Given the description of an element on the screen output the (x, y) to click on. 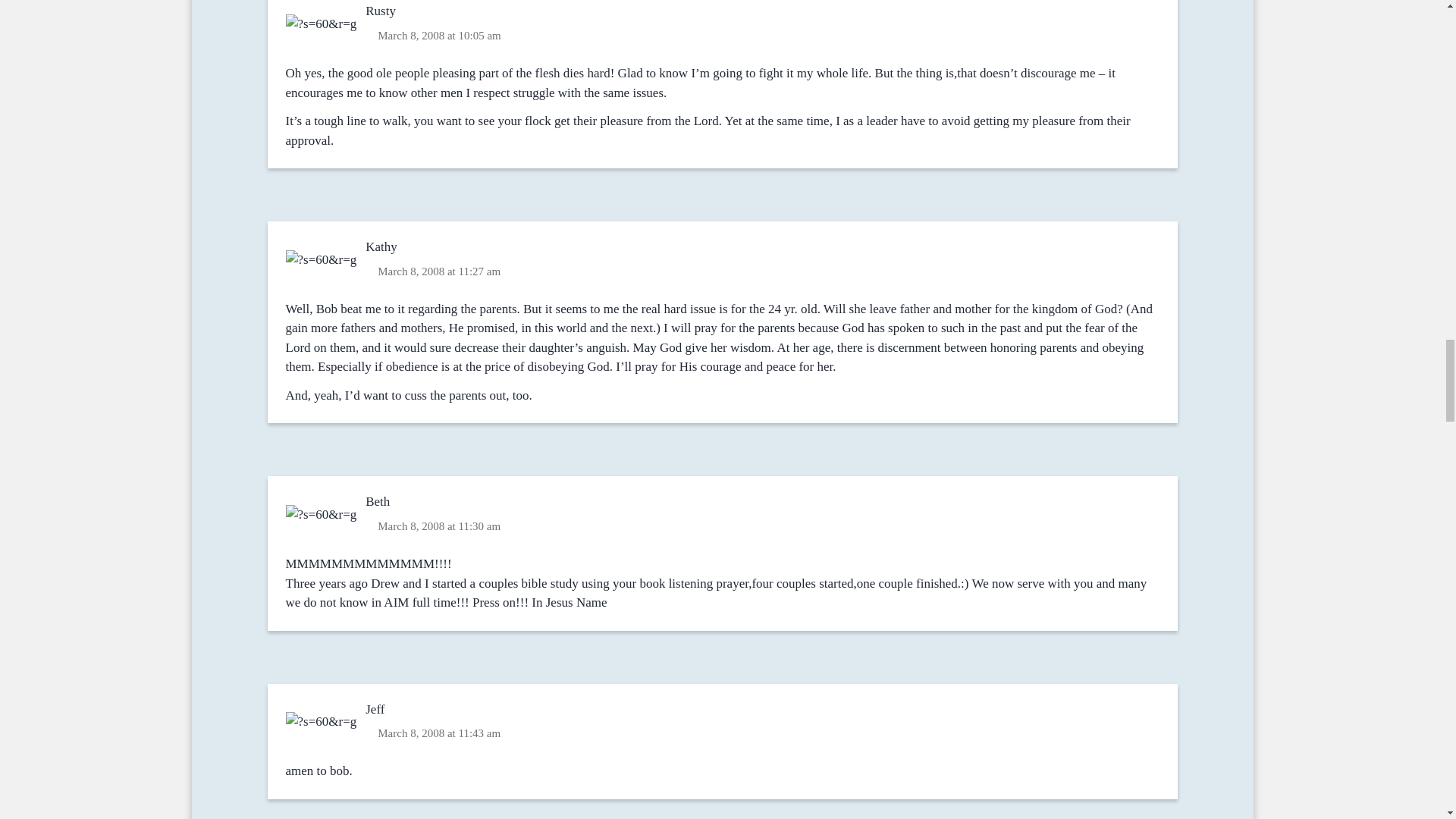
I care about the approval of men too much 3 (321, 23)
I care about the approval of men too much 3 (321, 259)
I care about the approval of men too much 3 (321, 514)
I care about the approval of men too much 3 (321, 721)
